Given the description of an element on the screen output the (x, y) to click on. 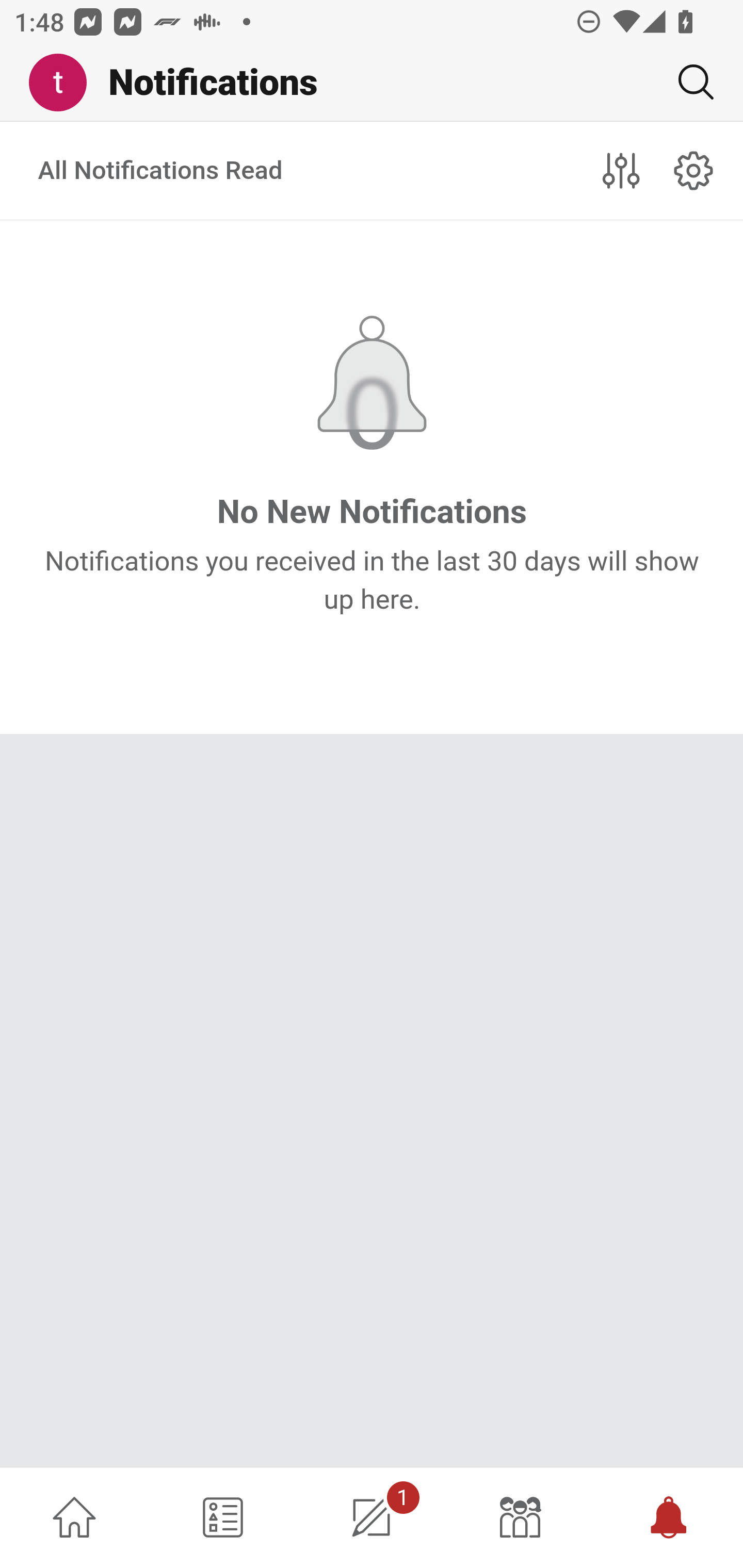
Me Notifications Search (371, 82)
Me (64, 83)
Search (688, 82)
All Notifications Read (160, 171)
notifications# (693, 170)
1 (371, 1517)
